Given the description of an element on the screen output the (x, y) to click on. 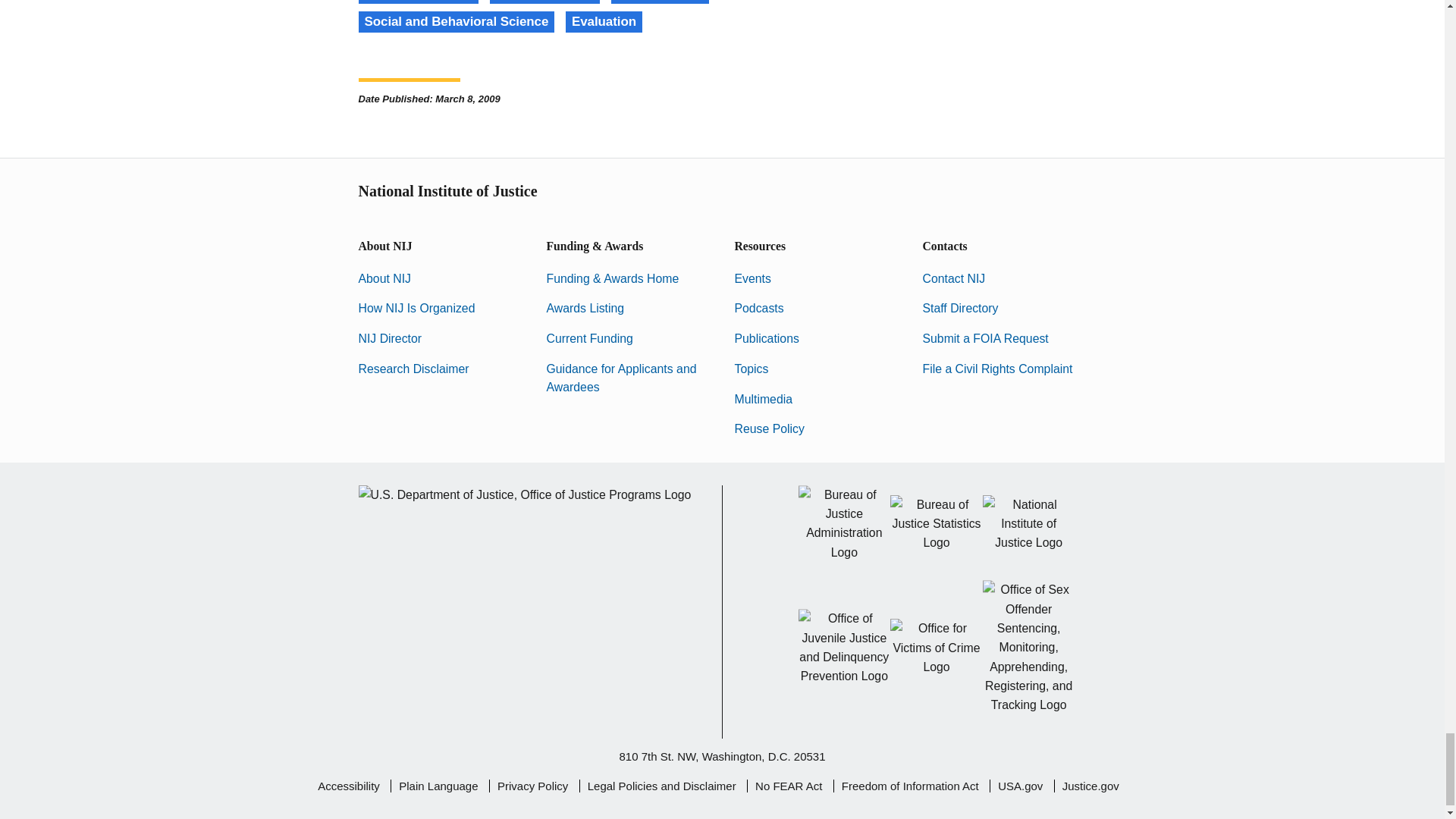
Human trafficking (418, 2)
Investigations (660, 2)
Victims of crime (544, 2)
